Given the description of an element on the screen output the (x, y) to click on. 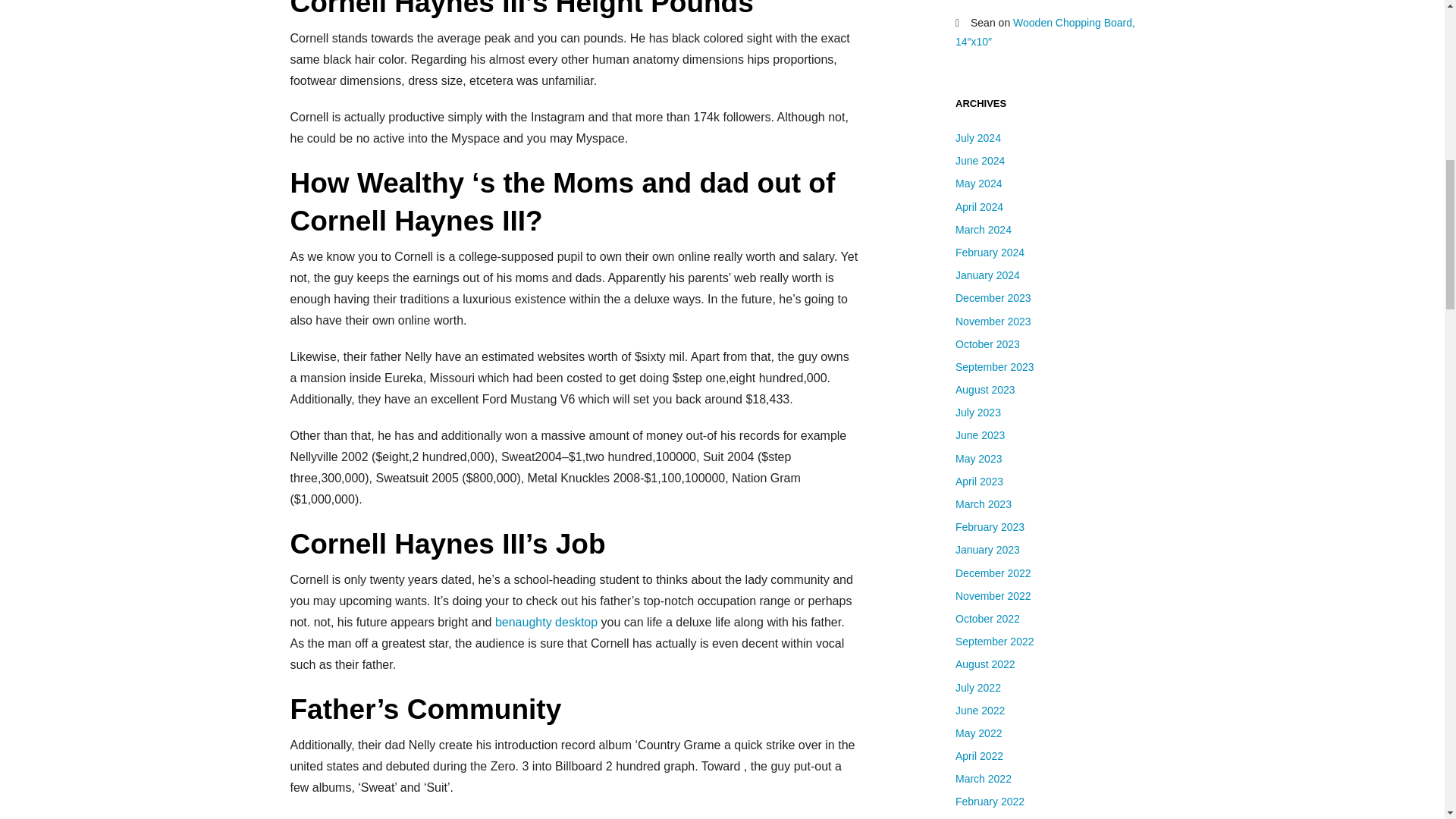
benaughty desktop (545, 621)
